Given the description of an element on the screen output the (x, y) to click on. 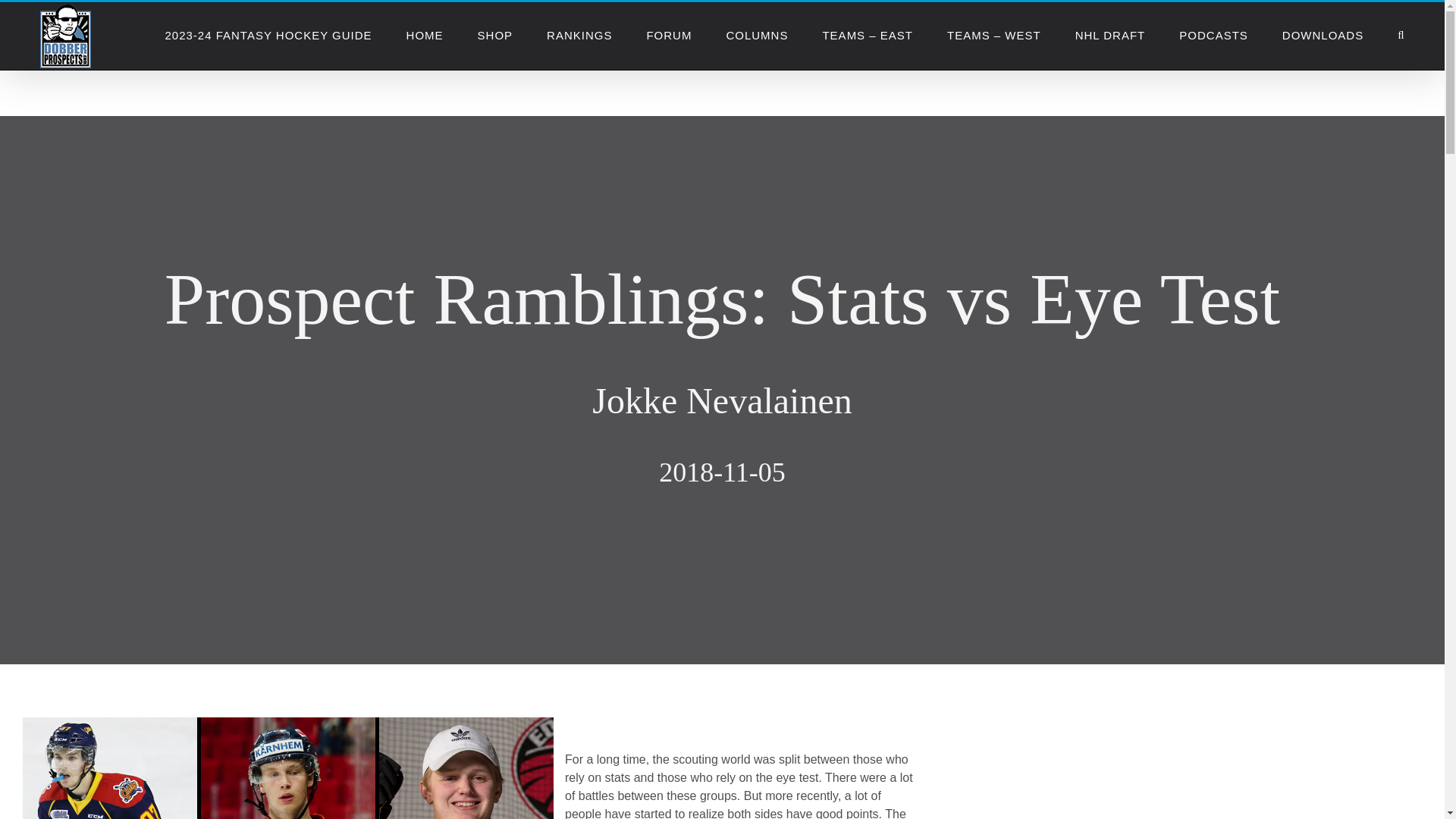
RANKINGS (579, 34)
COLUMNS (756, 34)
2023-24 FANTASY HOCKEY GUIDE (267, 34)
